Given the description of an element on the screen output the (x, y) to click on. 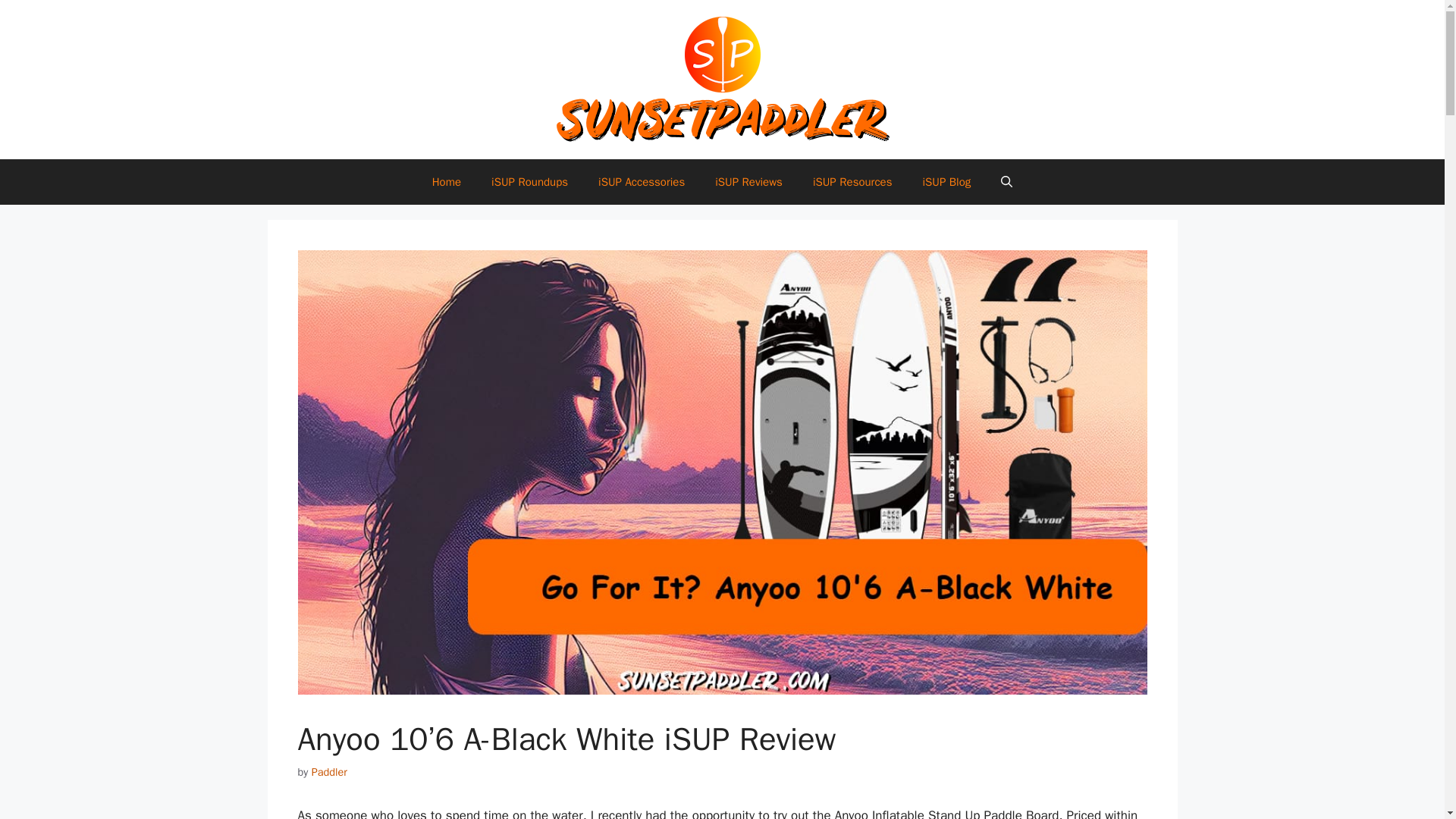
View all posts by Paddler (329, 771)
iSUP Resources (852, 181)
iSUP Roundups (529, 181)
Home (446, 181)
Paddler (329, 771)
iSUP Reviews (748, 181)
iSUP Blog (946, 181)
iSUP Accessories (641, 181)
